Given the description of an element on the screen output the (x, y) to click on. 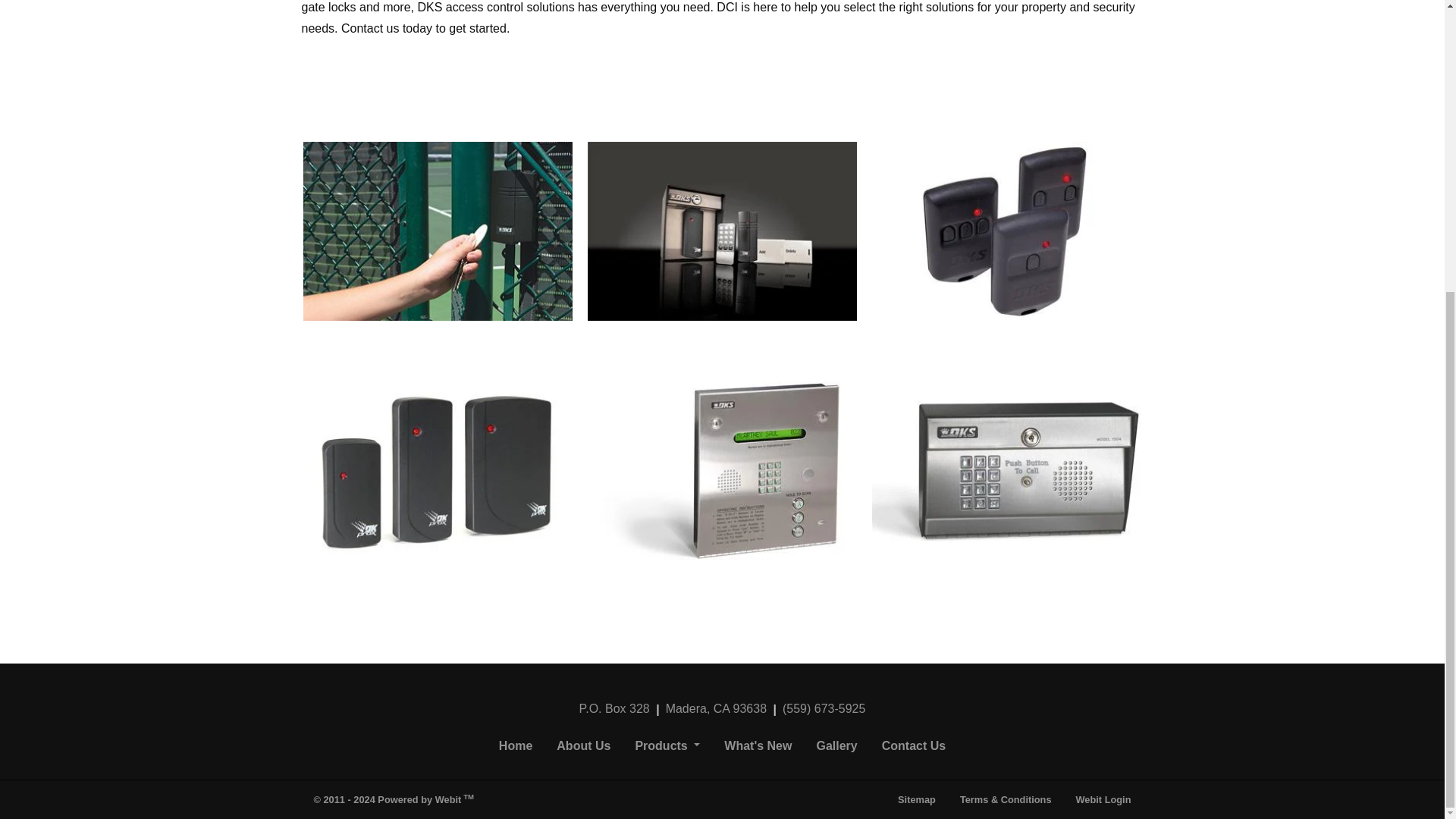
Products (667, 746)
What's New (757, 746)
About Us (583, 746)
Gallery (836, 746)
Home (515, 746)
Contact Us (913, 746)
Sitemap (916, 798)
